Given the description of an element on the screen output the (x, y) to click on. 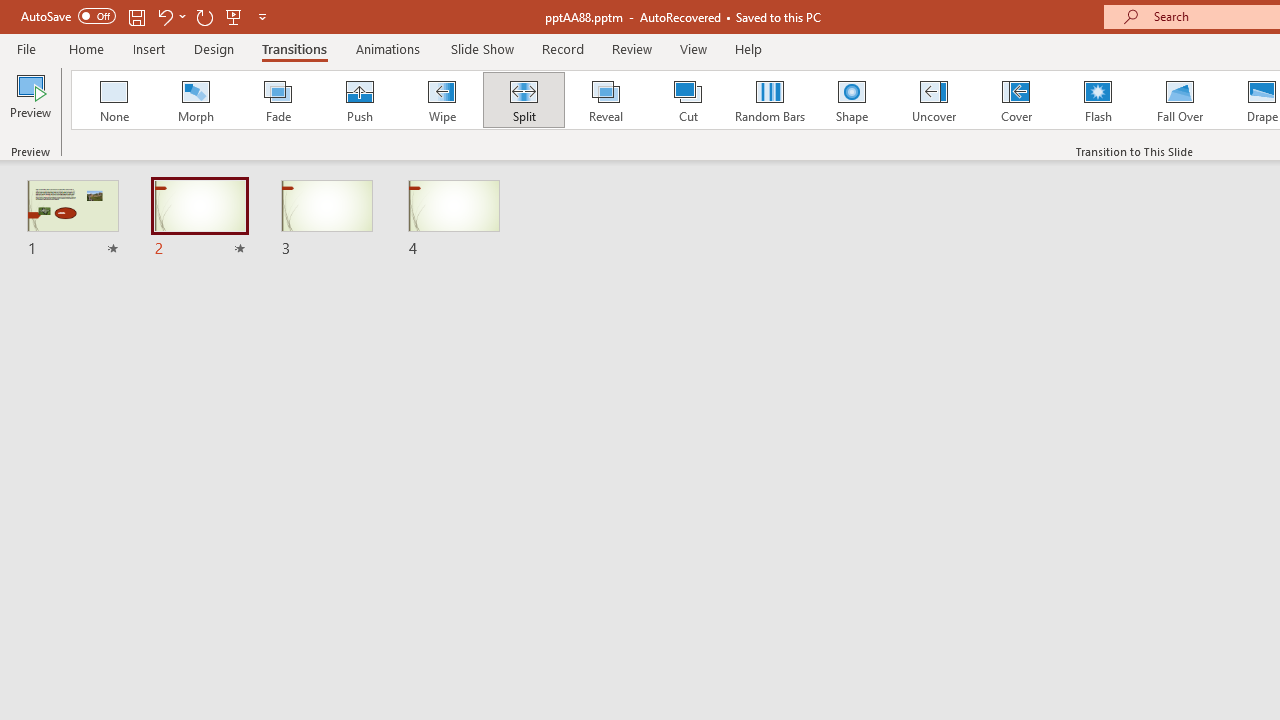
Push (359, 100)
Wipe (441, 100)
Fade (277, 100)
Morph (195, 100)
None (113, 100)
